Given the description of an element on the screen output the (x, y) to click on. 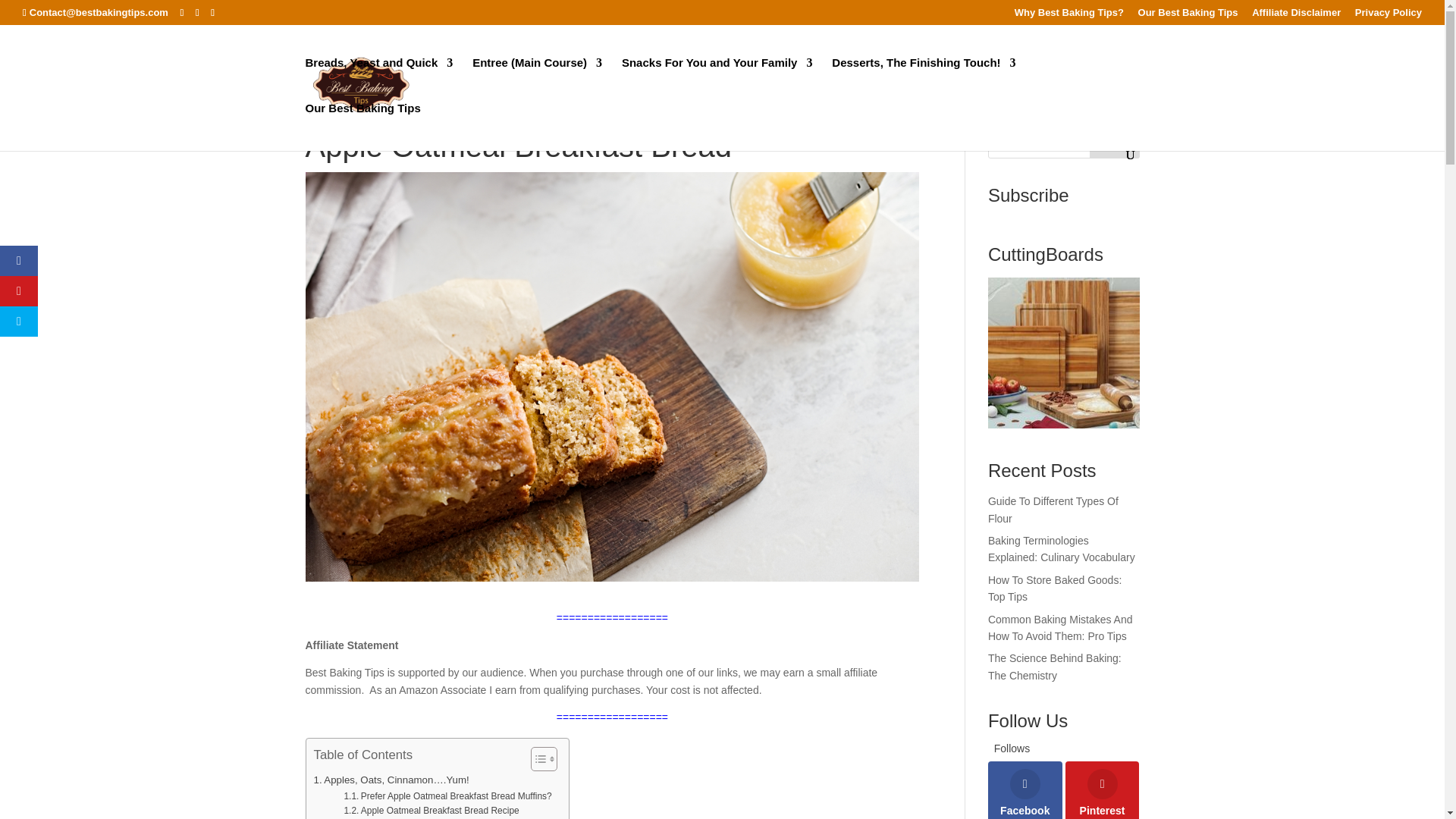
Affiliate Disclaimer (1296, 16)
Desserts, The Finishing Touch! (922, 80)
Breads, Yeast and Quick (378, 80)
Snacks For You and Your Family (716, 80)
Our Best Baking Tips (1188, 16)
Prefer Apple Oatmeal Breakfast Bread Muffins? (447, 796)
Privacy Policy (1388, 16)
Why Best Baking Tips? (1069, 16)
Search (1114, 142)
Apple Oatmeal Breakfast Bread Recipe (430, 810)
